Given the description of an element on the screen output the (x, y) to click on. 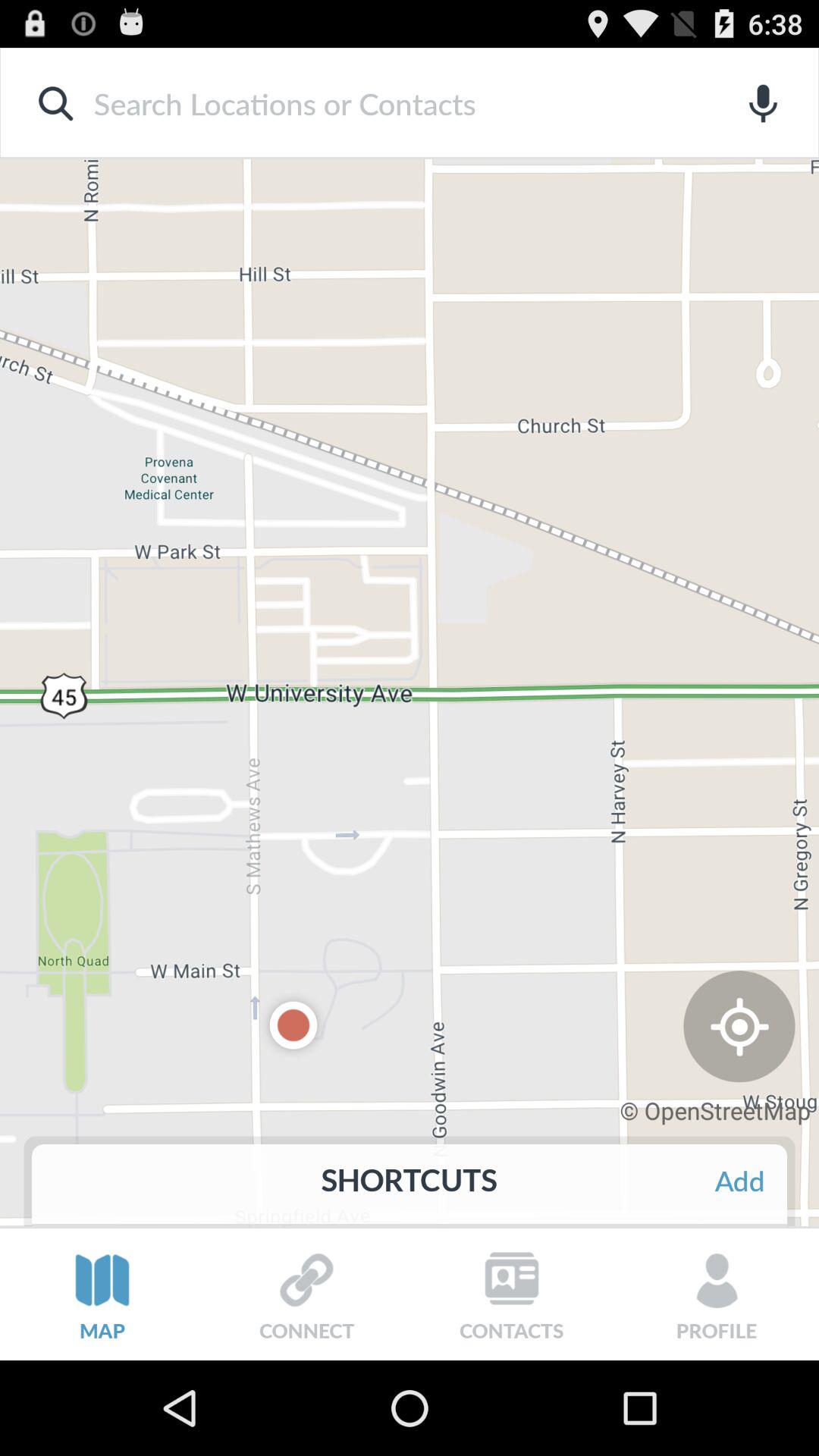
input search (385, 103)
